Given the description of an element on the screen output the (x, y) to click on. 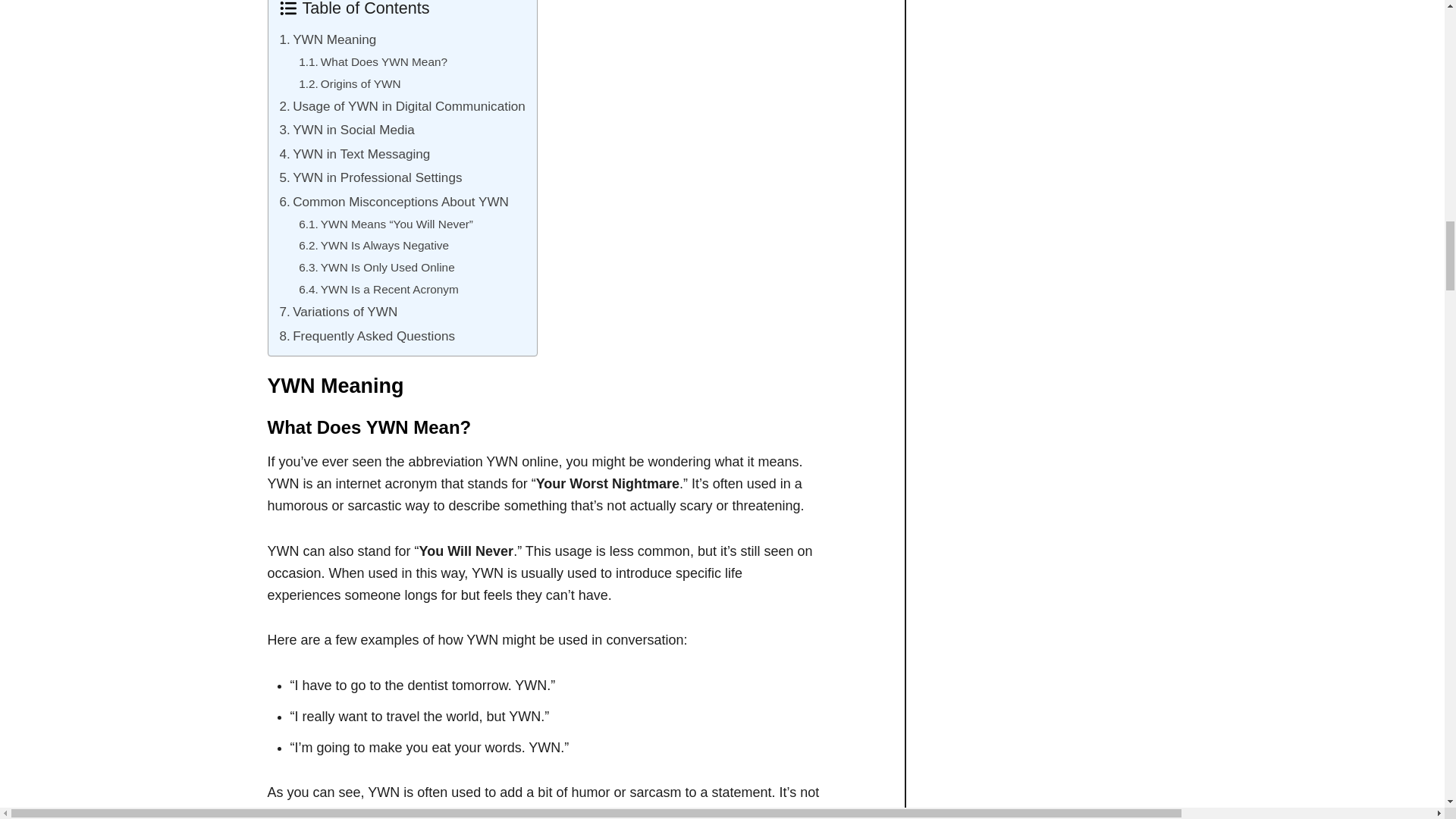
YWN in Professional Settings (370, 177)
Usage of YWN in Digital Communication (401, 106)
YWN Is Only Used Online (376, 268)
Variations of YWN (338, 311)
YWN Meaning (327, 39)
YWN in Social Media (346, 129)
YWN Is a Recent Acronym (378, 290)
Frequently Asked Questions (366, 336)
YWN in Text Messaging (354, 154)
YWN Is Always Negative (373, 246)
What Does YWN Mean? (372, 62)
Origins of YWN (349, 83)
Common Misconceptions About YWN (393, 200)
